Given the description of an element on the screen output the (x, y) to click on. 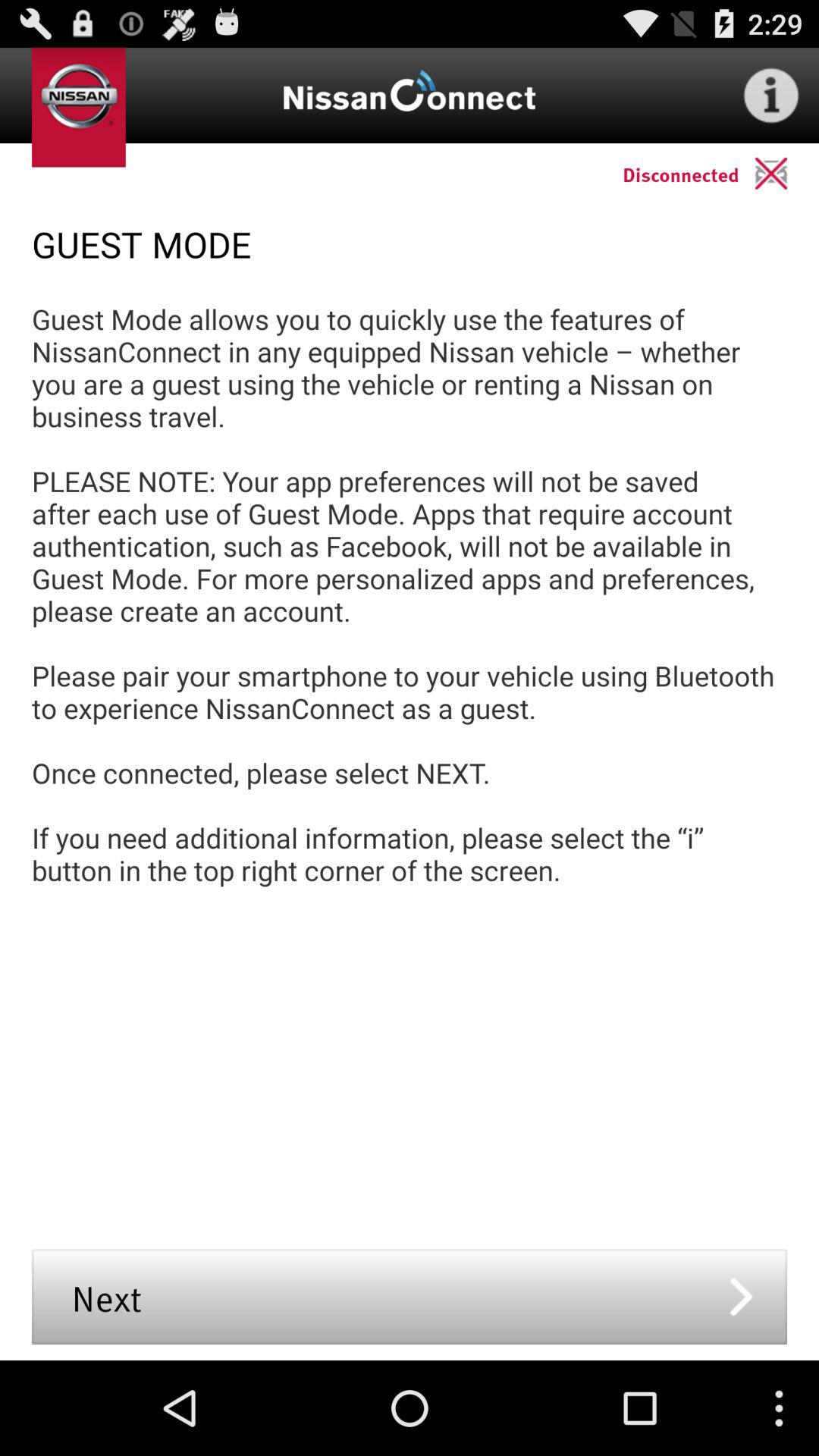
connect to internet (771, 95)
